Given the description of an element on the screen output the (x, y) to click on. 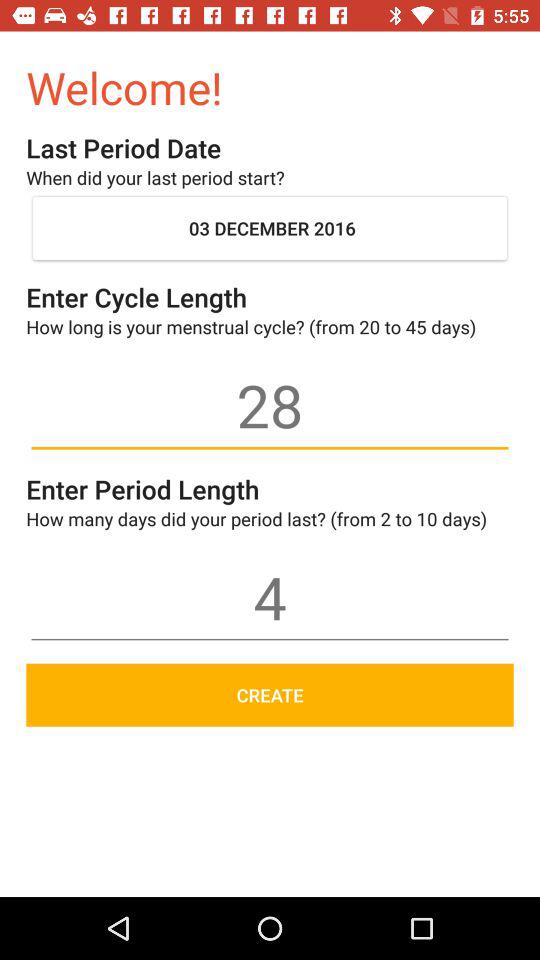
turn off the item below 4 item (269, 694)
